Given the description of an element on the screen output the (x, y) to click on. 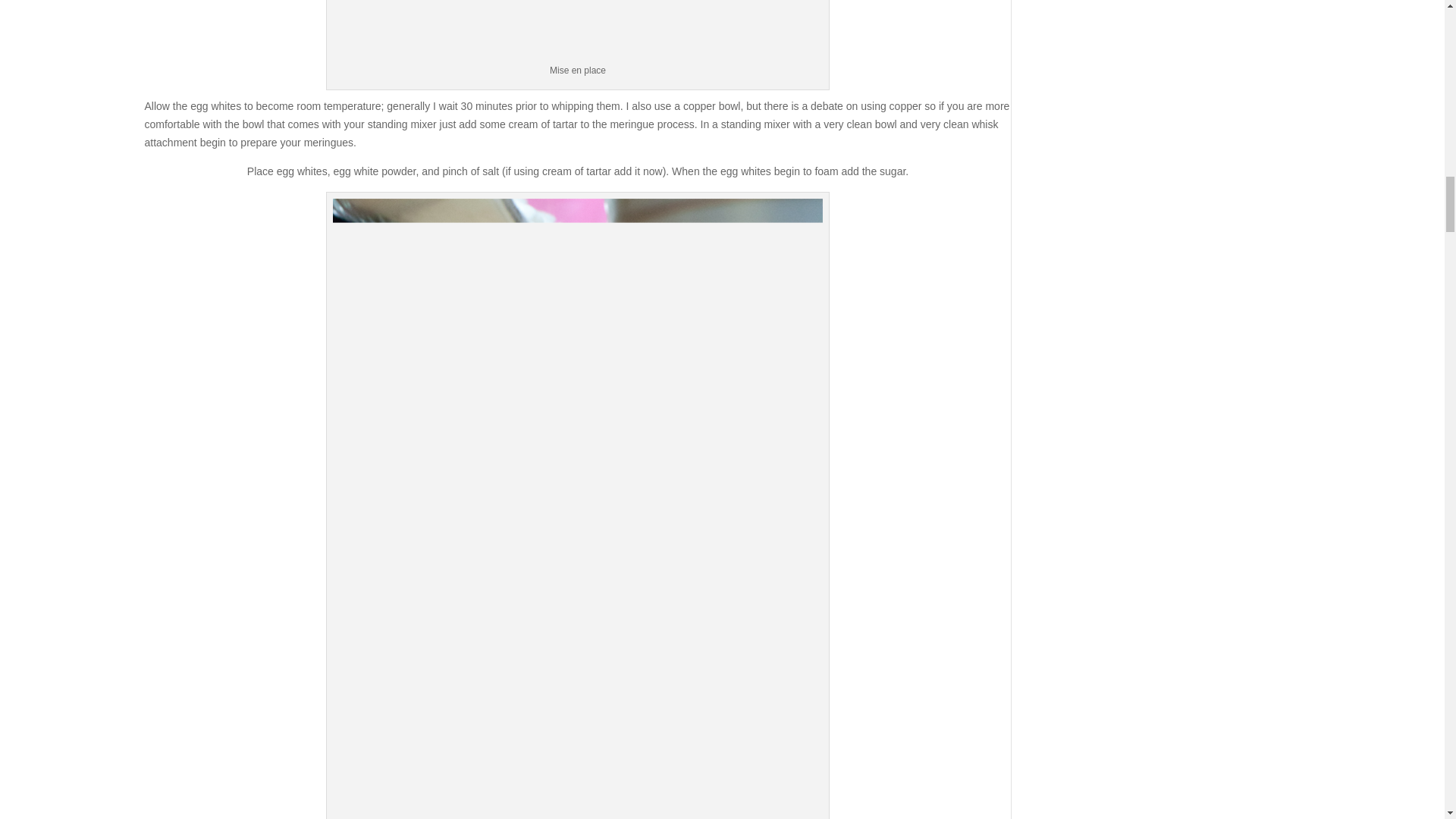
meringuemiseenplace2185 (577, 30)
